Given the description of an element on the screen output the (x, y) to click on. 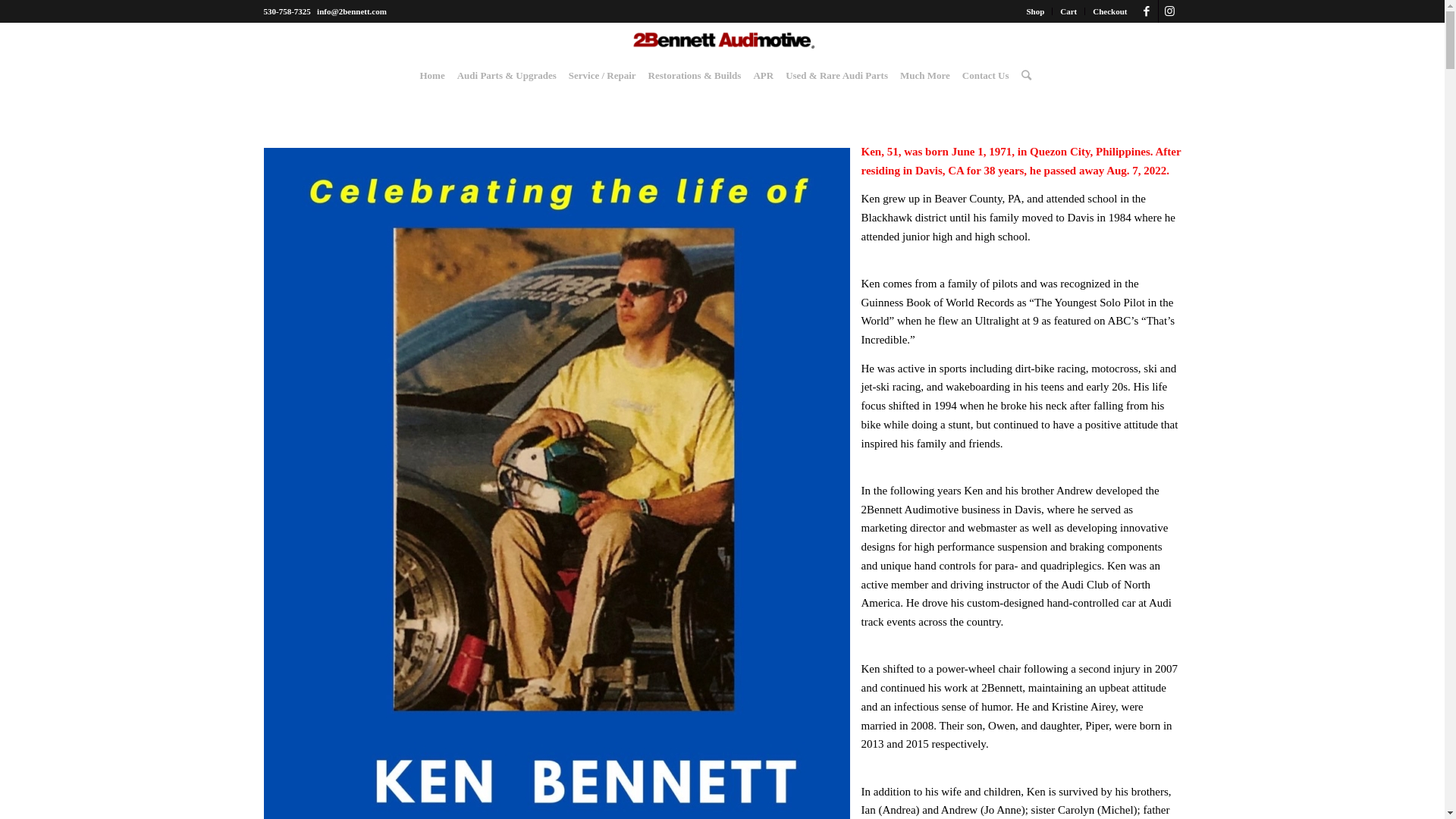
Cart Element type: text (1068, 11)
Instagram Element type: hover (1169, 11)
Service / Repair Element type: text (602, 75)
APR Element type: text (762, 75)
Contact Us Element type: text (985, 75)
Restorations & Builds Element type: text (694, 75)
Checkout Element type: text (1109, 11)
Shop Element type: text (1035, 11)
Facebook Element type: hover (1146, 11)
Used & Rare Audi Parts Element type: text (836, 75)
Much More Element type: text (925, 75)
Home Element type: text (431, 75)
Audi Parts & Upgrades Element type: text (506, 75)
